Given the description of an element on the screen output the (x, y) to click on. 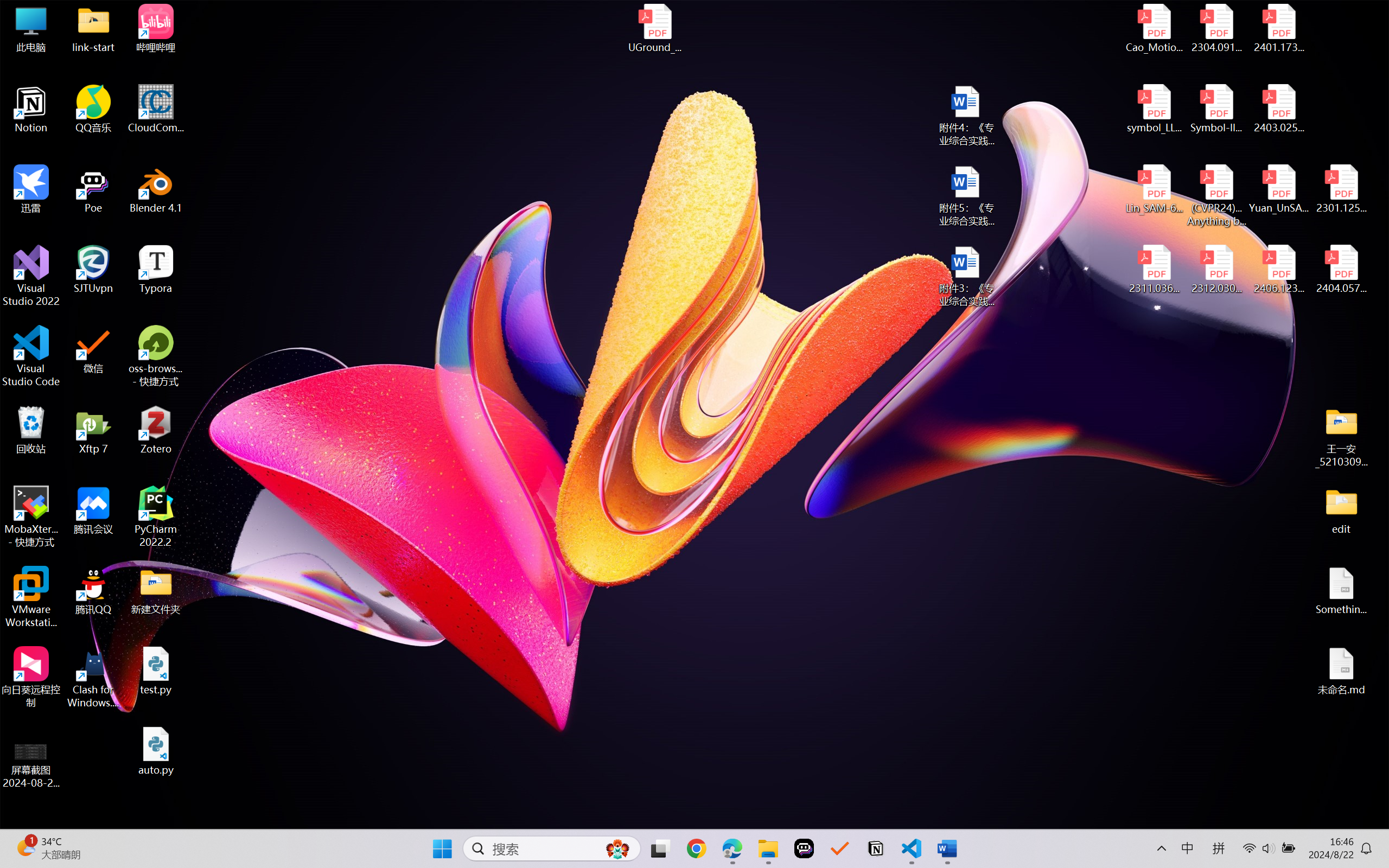
Something.md (1340, 591)
2311.03658v2.pdf (1154, 269)
2301.12597v3.pdf (1340, 189)
Xftp 7 (93, 430)
2404.05719v1.pdf (1340, 269)
